Given the description of an element on the screen output the (x, y) to click on. 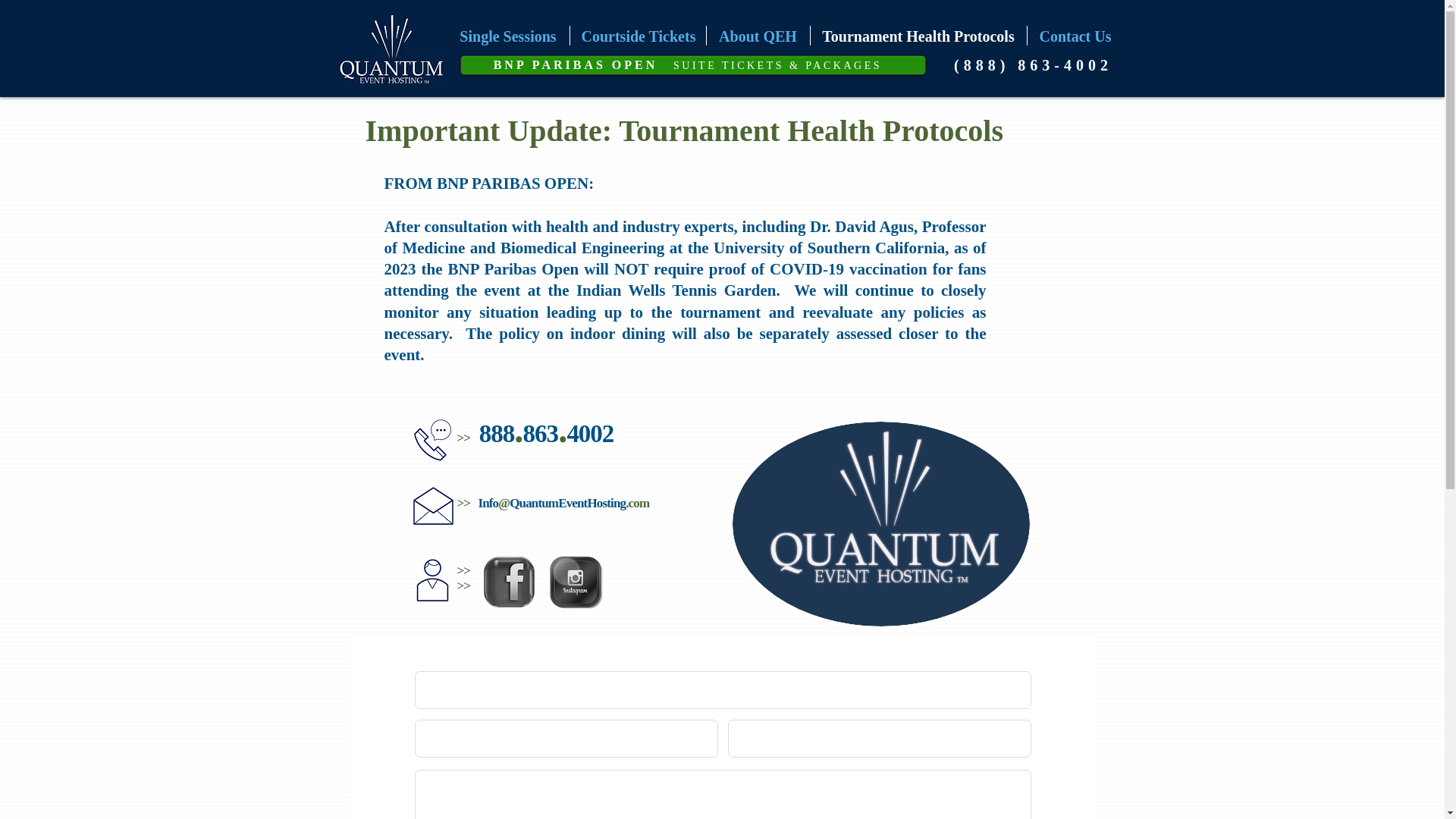
4002 (589, 433)
Courtside Tickets (638, 35)
Contact Us (1074, 35)
Single Sessions (507, 35)
BNP PARIBAS OPEN (575, 64)
863 (539, 433)
Tournament Health Protocols (917, 35)
About QEH (757, 35)
888 (496, 433)
